Given the description of an element on the screen output the (x, y) to click on. 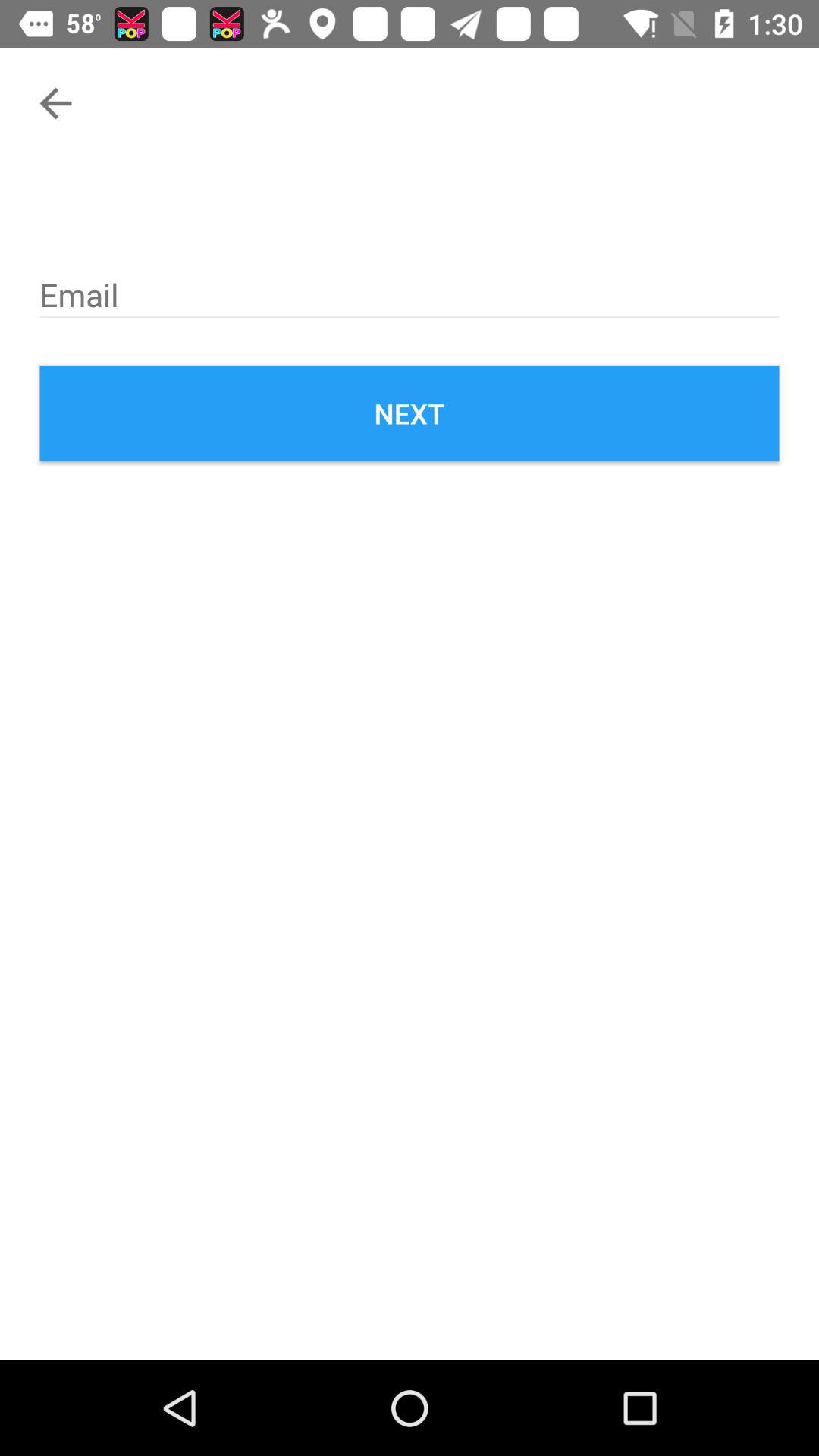
scroll until next icon (409, 413)
